Given the description of an element on the screen output the (x, y) to click on. 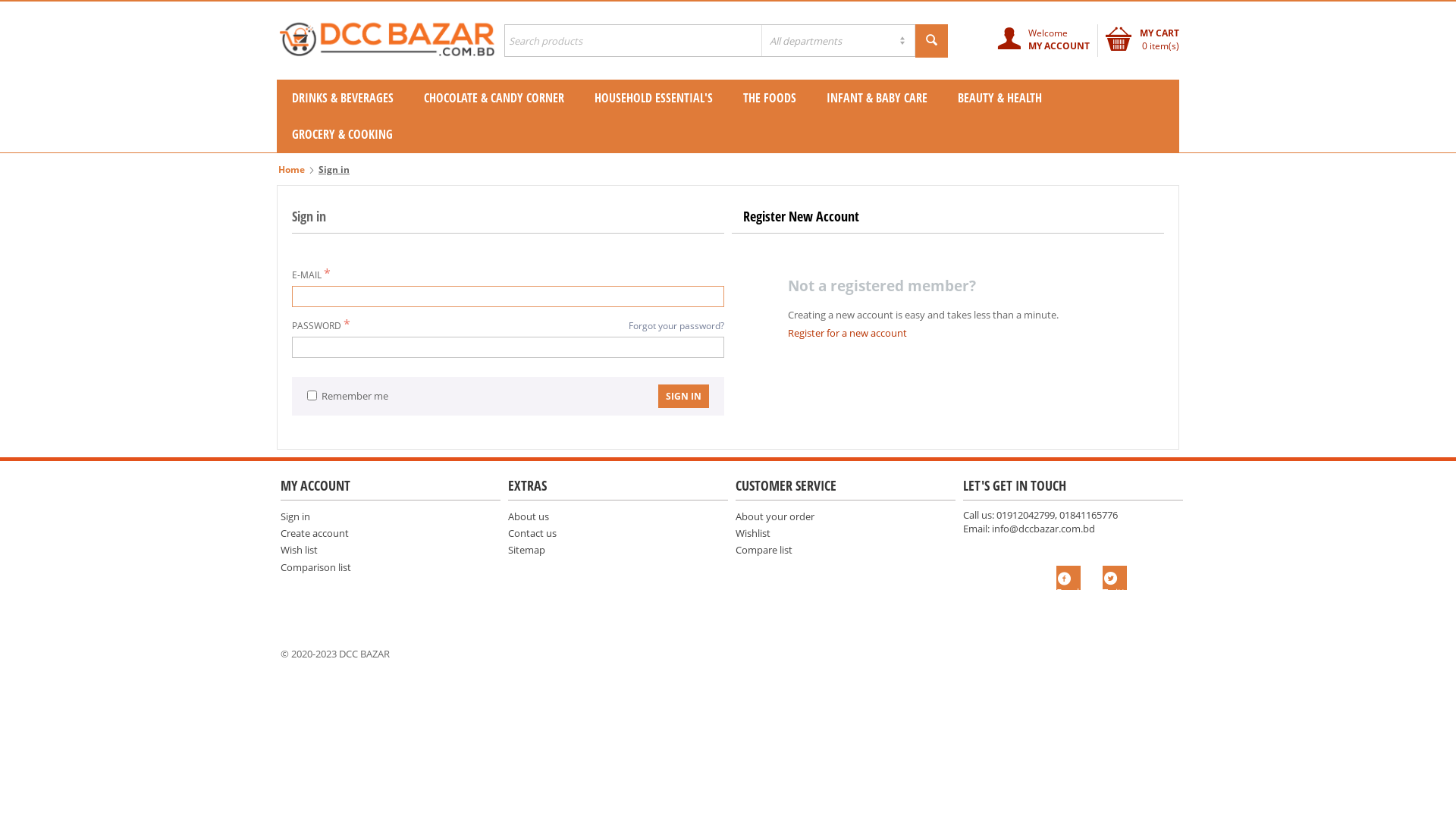
Contact us Element type: text (532, 532)
CHOCOLATE & CANDY CORNER Element type: text (493, 97)
HOUSEHOLD ESSENTIAL'S Element type: text (653, 97)
Wish list Element type: text (298, 549)
INFANT & BABY CARE Element type: text (876, 97)
Facebook Element type: text (1068, 577)
info@dccbazar.com.bd Element type: text (1043, 528)
Sign in Element type: text (295, 516)
GROCERY & COOKING Element type: text (341, 134)
Sitemap Element type: text (526, 549)
THE FOODS Element type: text (769, 97)
Create account Element type: text (314, 532)
Register for a new account Element type: text (846, 332)
About your order Element type: text (774, 516)
Twitter Element type: text (1114, 577)
DRINKS & BEVERAGES Element type: text (342, 97)
Search products Element type: hover (725, 40)
BEAUTY & HEALTH Element type: text (999, 97)
MY CART
0 item(s) Element type: text (1142, 39)
Search Element type: hover (931, 40)
Home Element type: text (291, 169)
SIGN IN Element type: text (683, 395)
Forgot your password? Element type: text (676, 325)
About us Element type: text (528, 516)
Comparison list Element type: text (315, 567)
Wishlist Element type: text (752, 532)
Compare list Element type: text (763, 549)
